Given the description of an element on the screen output the (x, y) to click on. 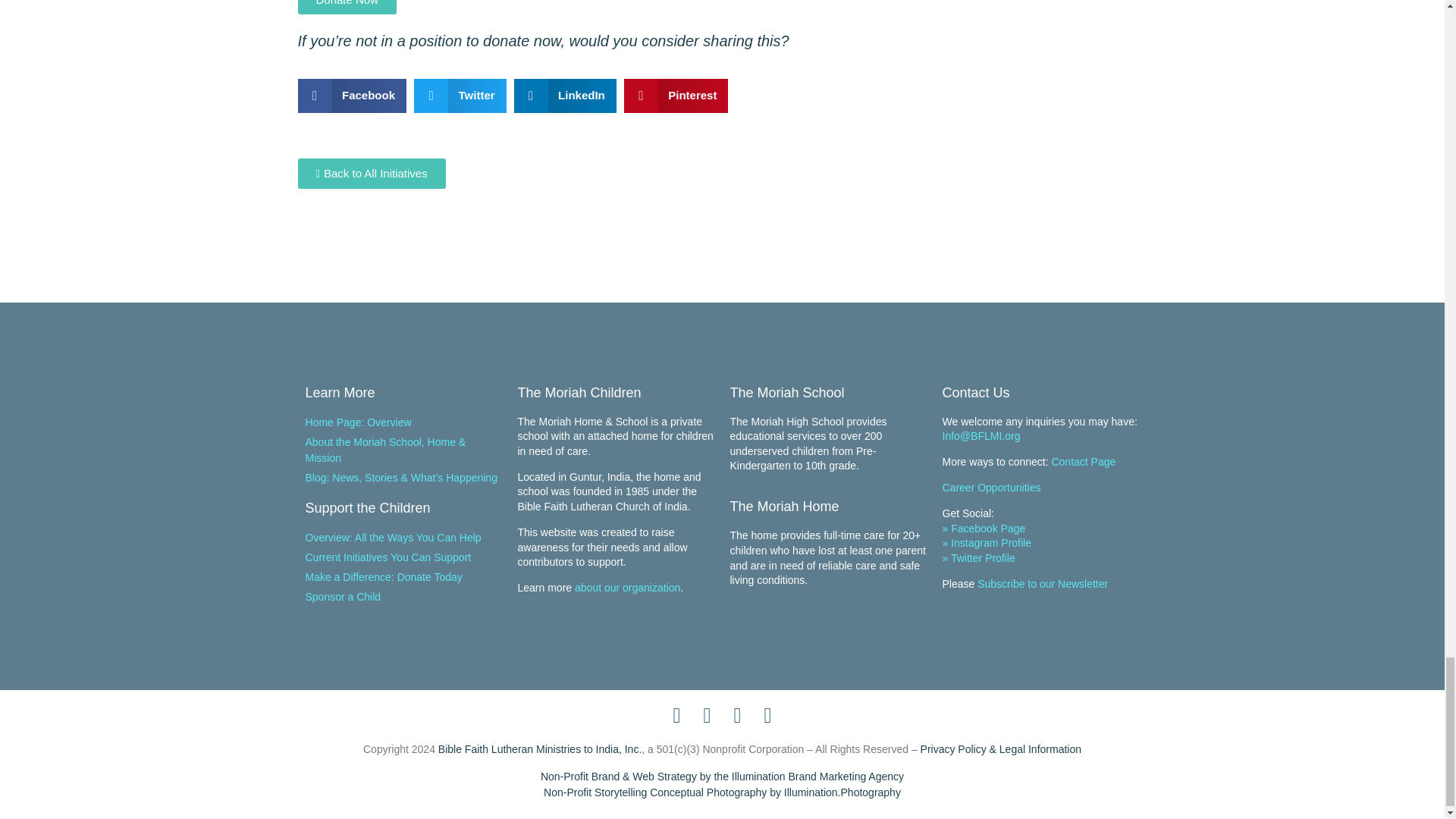
Donate Now (346, 7)
Back to All Initiatives (371, 173)
Sponsor a Child (403, 596)
Current Initiatives You Can Support (403, 557)
Overview: All the Ways You Can Help (403, 537)
Home Page: Overview (403, 422)
Make a Difference: Donate Today (403, 577)
